Given the description of an element on the screen output the (x, y) to click on. 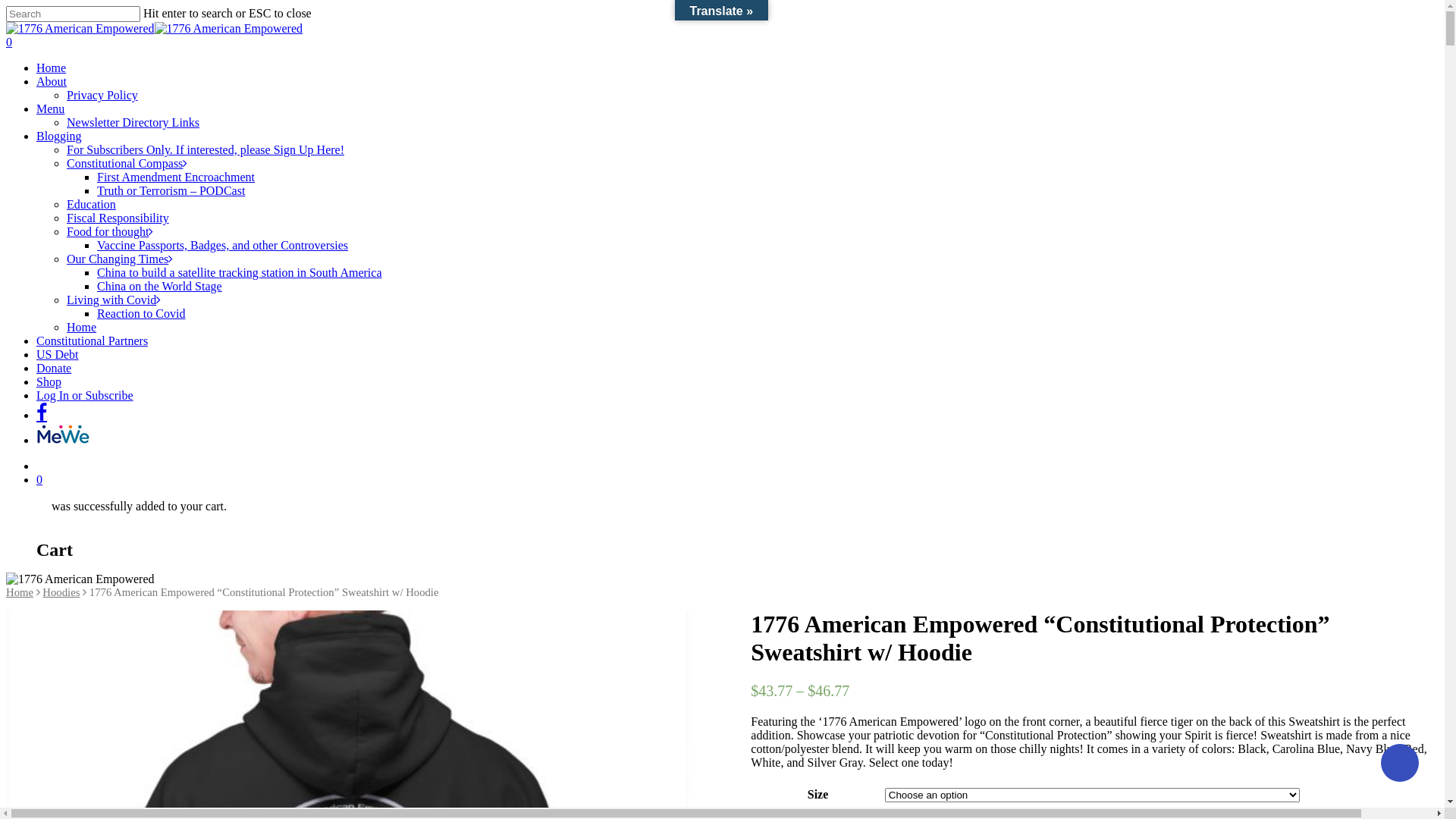
Home Element type: text (50, 67)
Privacy Policy Element type: text (102, 94)
Our Changing Times Element type: text (119, 258)
Fiscal Responsibility Element type: text (117, 217)
Blogging Element type: text (58, 135)
First Amendment Encroachment Element type: text (175, 176)
US Debt Element type: text (57, 354)
China on the World Stage Element type: text (159, 285)
Vaccine Passports, Badges, and other Controversies Element type: text (222, 244)
Hoodies Element type: text (60, 592)
0 Element type: text (722, 42)
Constitutional Partners Element type: text (91, 340)
Home Element type: text (81, 326)
About Element type: text (51, 81)
Reaction to Covid Element type: text (141, 313)
Newsletter Directory Links Element type: text (132, 122)
0 Element type: text (737, 479)
Living with Covid Element type: text (113, 299)
For Subscribers Only. If interested, please Sign Up Here! Element type: text (205, 149)
Constitutional Compass Element type: text (126, 162)
Shop Element type: text (48, 381)
Education Element type: text (91, 203)
Food for thought Element type: text (109, 231)
Log In or Subscribe Element type: text (84, 395)
Skip to main content Element type: text (5, 5)
facebook Element type: text (41, 412)
Home Element type: text (19, 592)
Menu Element type: text (50, 108)
China to build a satellite tracking station in South America Element type: text (239, 272)
Donate Element type: text (53, 367)
